Given the description of an element on the screen output the (x, y) to click on. 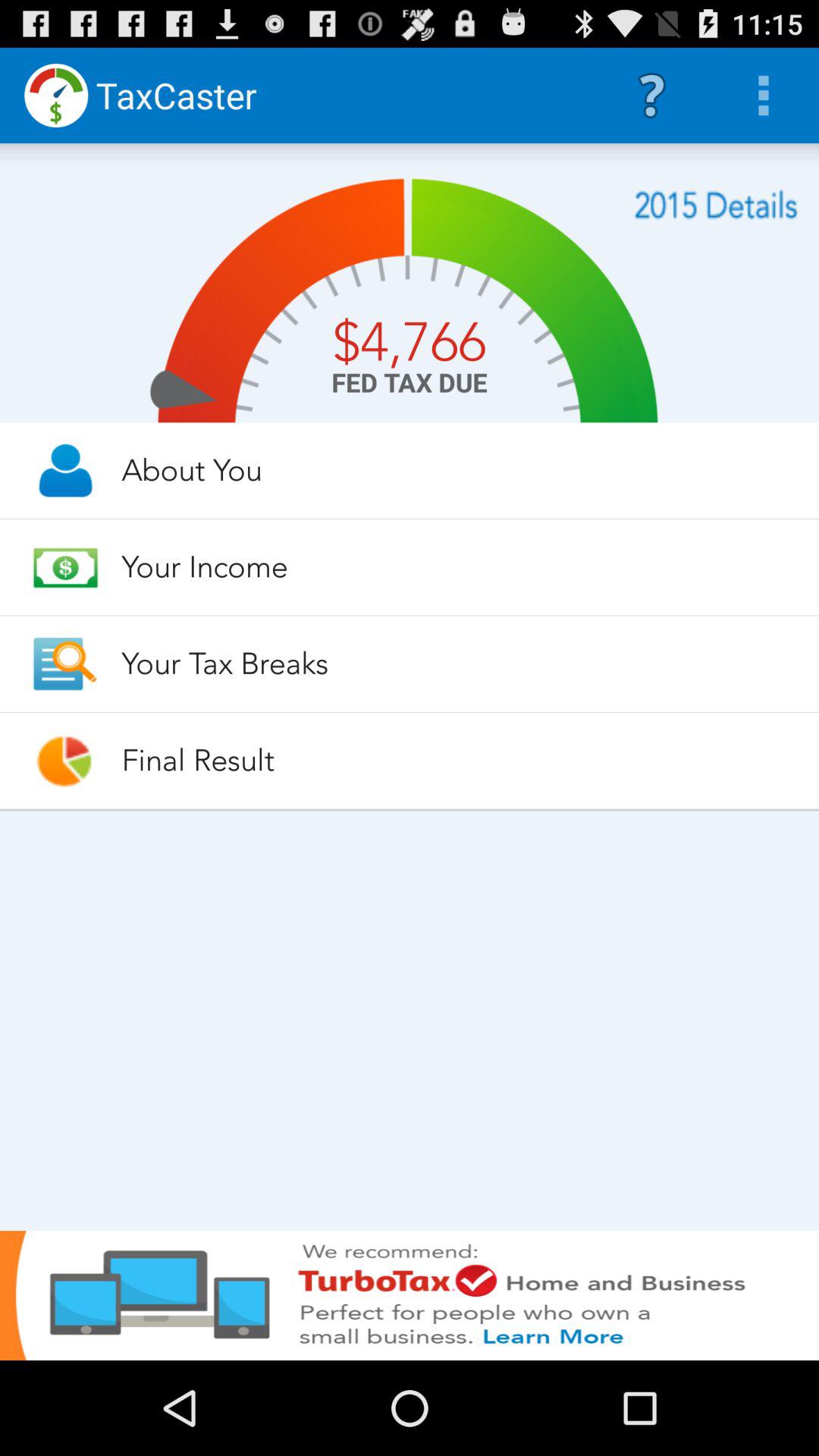
press icon above the your income app (456, 470)
